Given the description of an element on the screen output the (x, y) to click on. 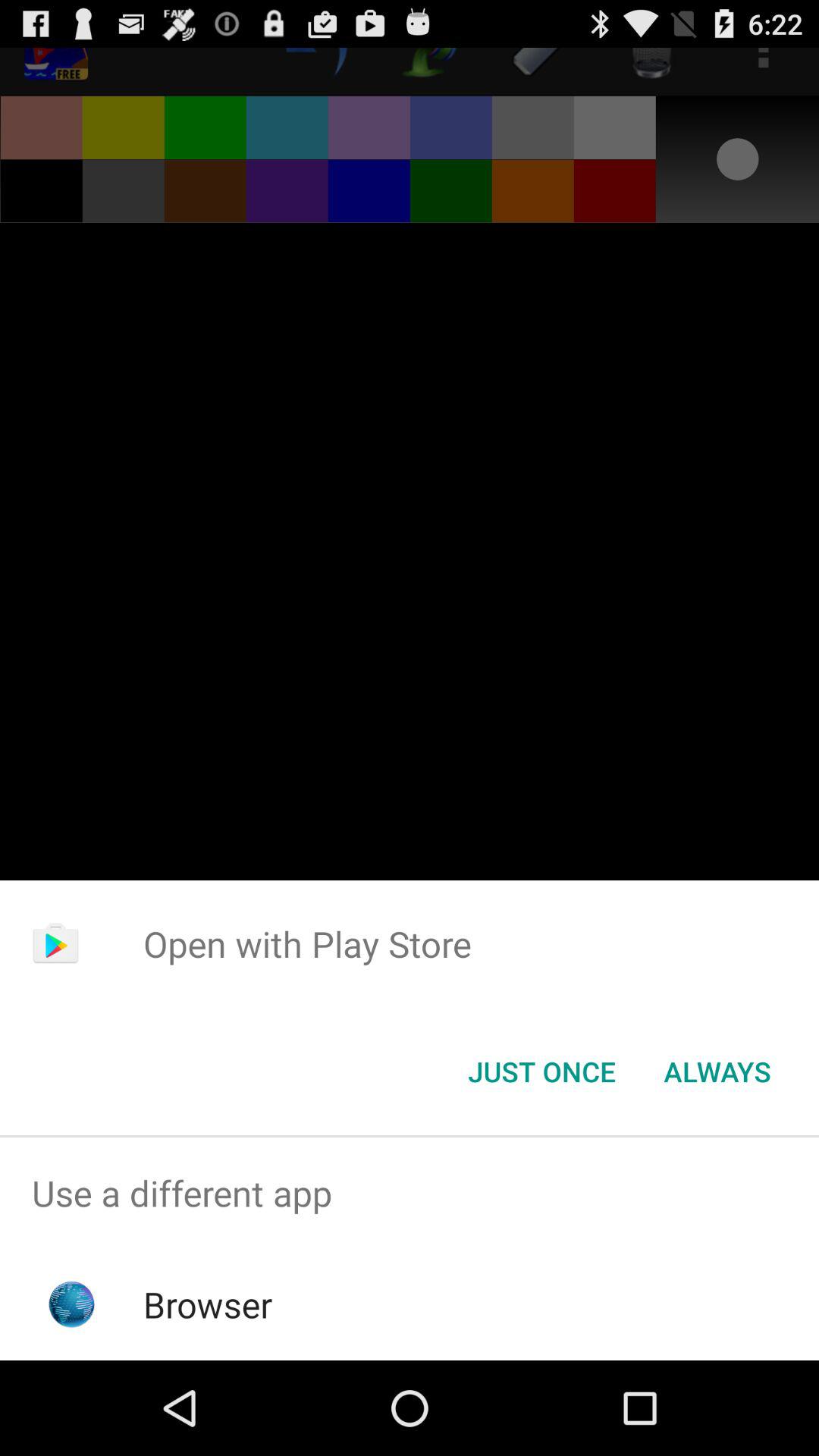
scroll to use a different app (409, 1192)
